Given the description of an element on the screen output the (x, y) to click on. 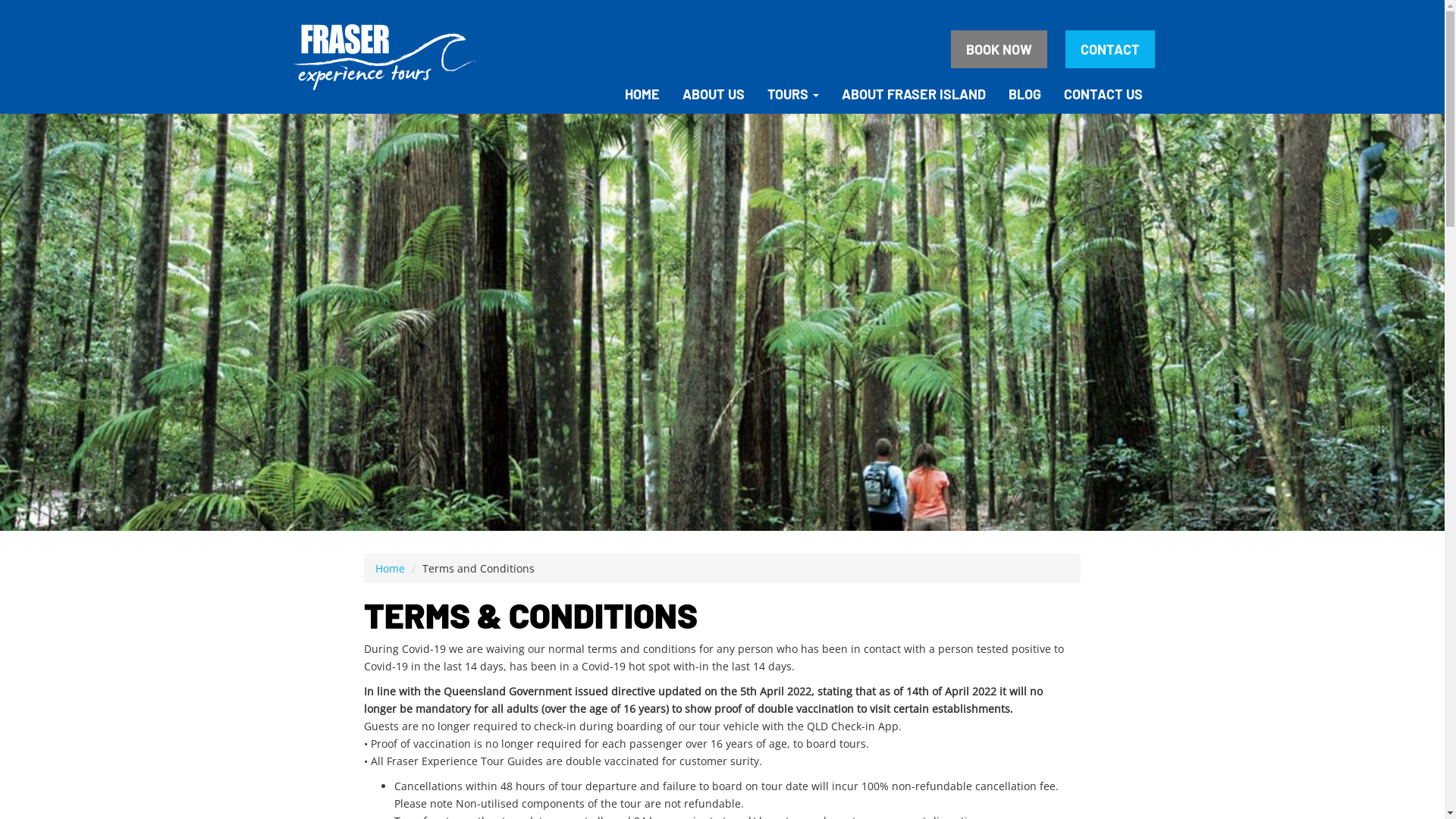
TOURS Element type: text (792, 93)
BLOG Element type: text (1023, 93)
CONTACT Element type: text (1109, 49)
BOOK NOW Element type: text (998, 49)
Fraser Experience Tours  Logo Element type: hover (384, 56)
ABOUT US Element type: text (712, 93)
CONTACT US Element type: text (1103, 93)
Home Element type: text (389, 568)
HOME Element type: text (641, 93)
ABOUT FRASER ISLAND Element type: text (912, 93)
